Given the description of an element on the screen output the (x, y) to click on. 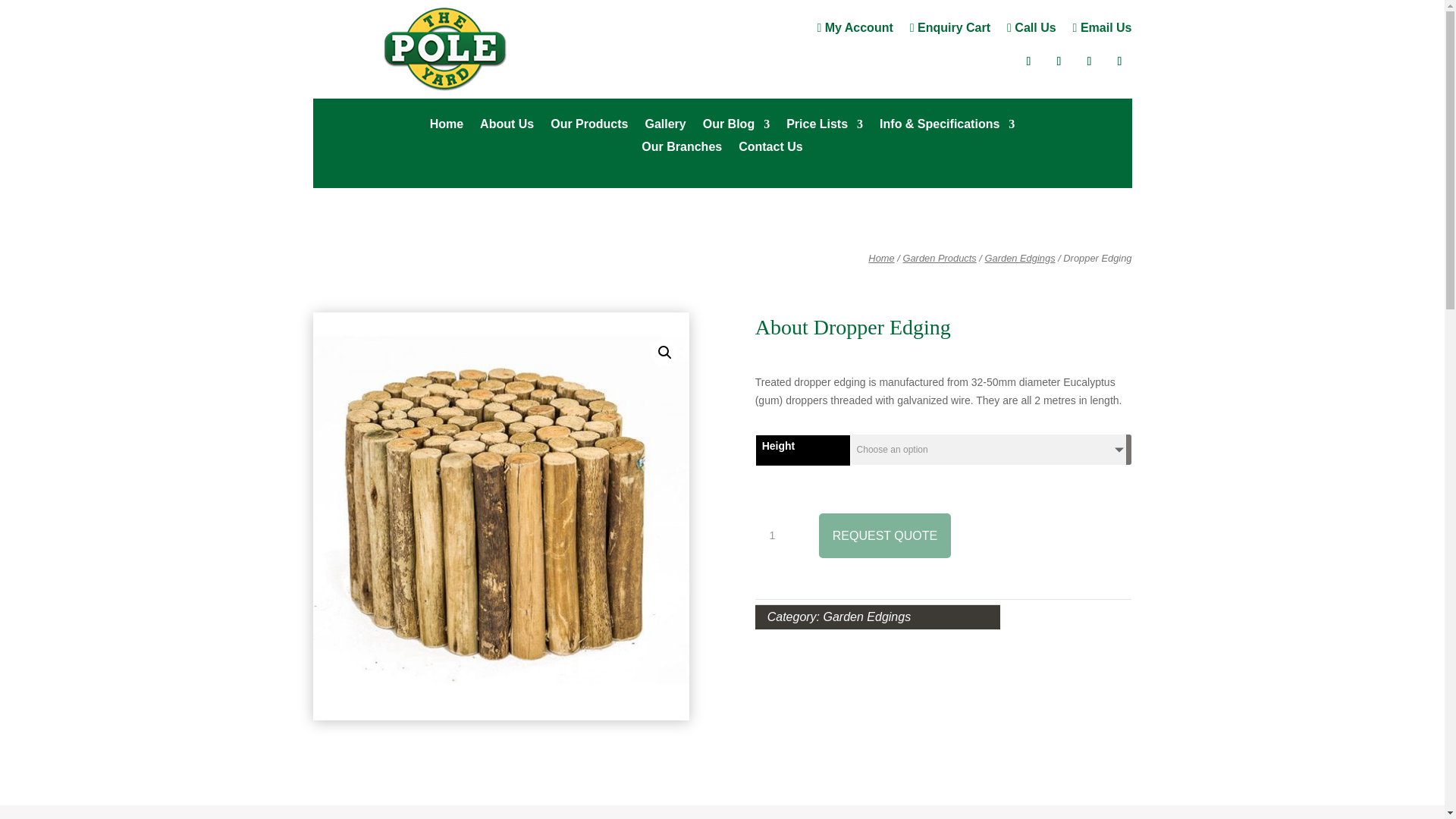
Email Us (1102, 31)
Call Us (1032, 31)
My Account (854, 31)
Enquiry Cart (950, 31)
Home (446, 126)
Contact Us (770, 149)
Follow on Instagram (1058, 61)
Follow on Facebook (1028, 61)
Follow on Youtube (1118, 61)
Our Blog (736, 126)
1 (777, 536)
Price Lists (824, 126)
PY-Logo (445, 48)
Our Products (588, 126)
